Given the description of an element on the screen output the (x, y) to click on. 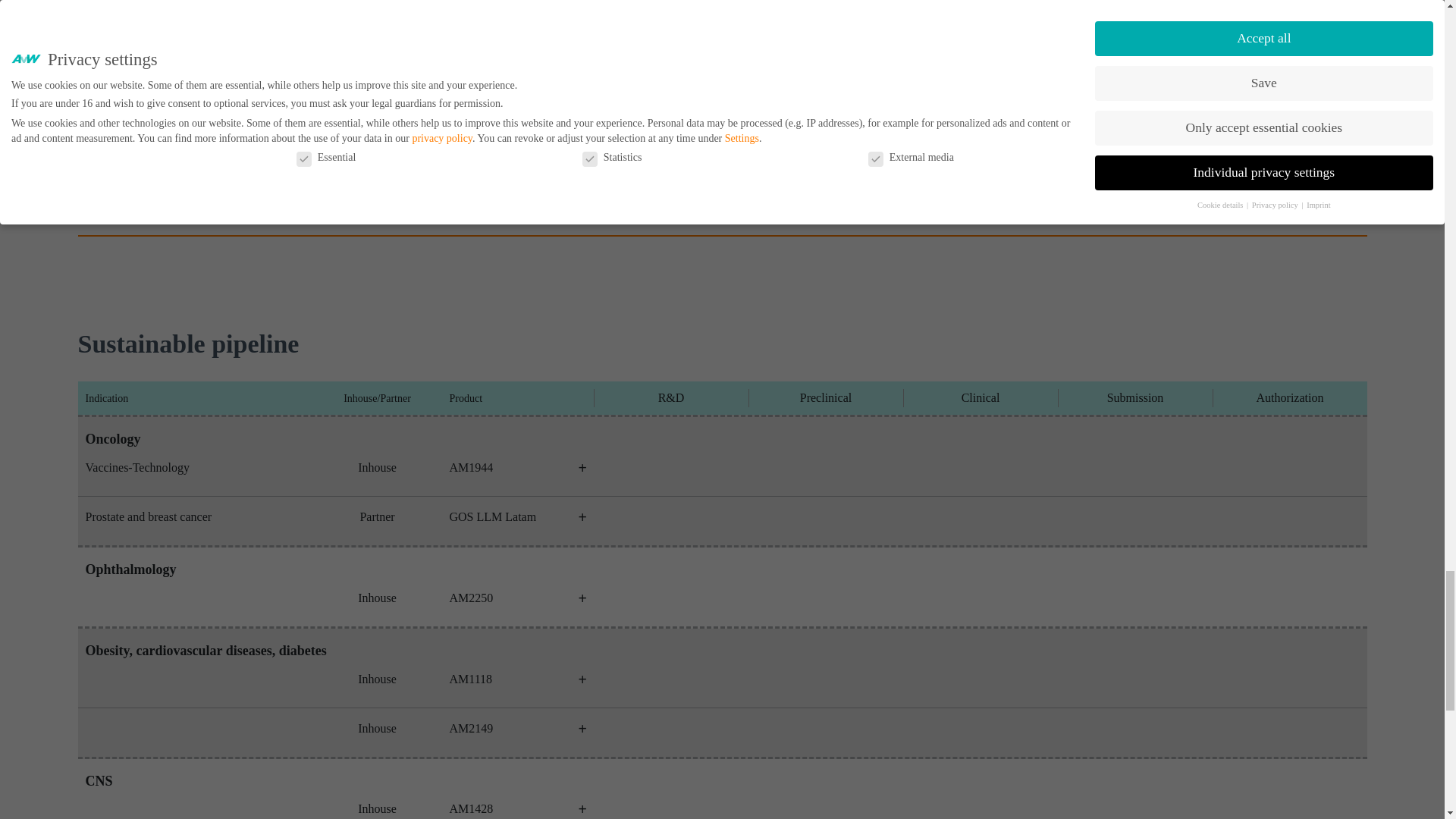
mehr Informationen (581, 467)
mehr Informationen (581, 679)
mehr Informationen (581, 808)
mehr Informationen (581, 598)
mehr Informationen (581, 728)
mehr Informationen (581, 516)
